Given the description of an element on the screen output the (x, y) to click on. 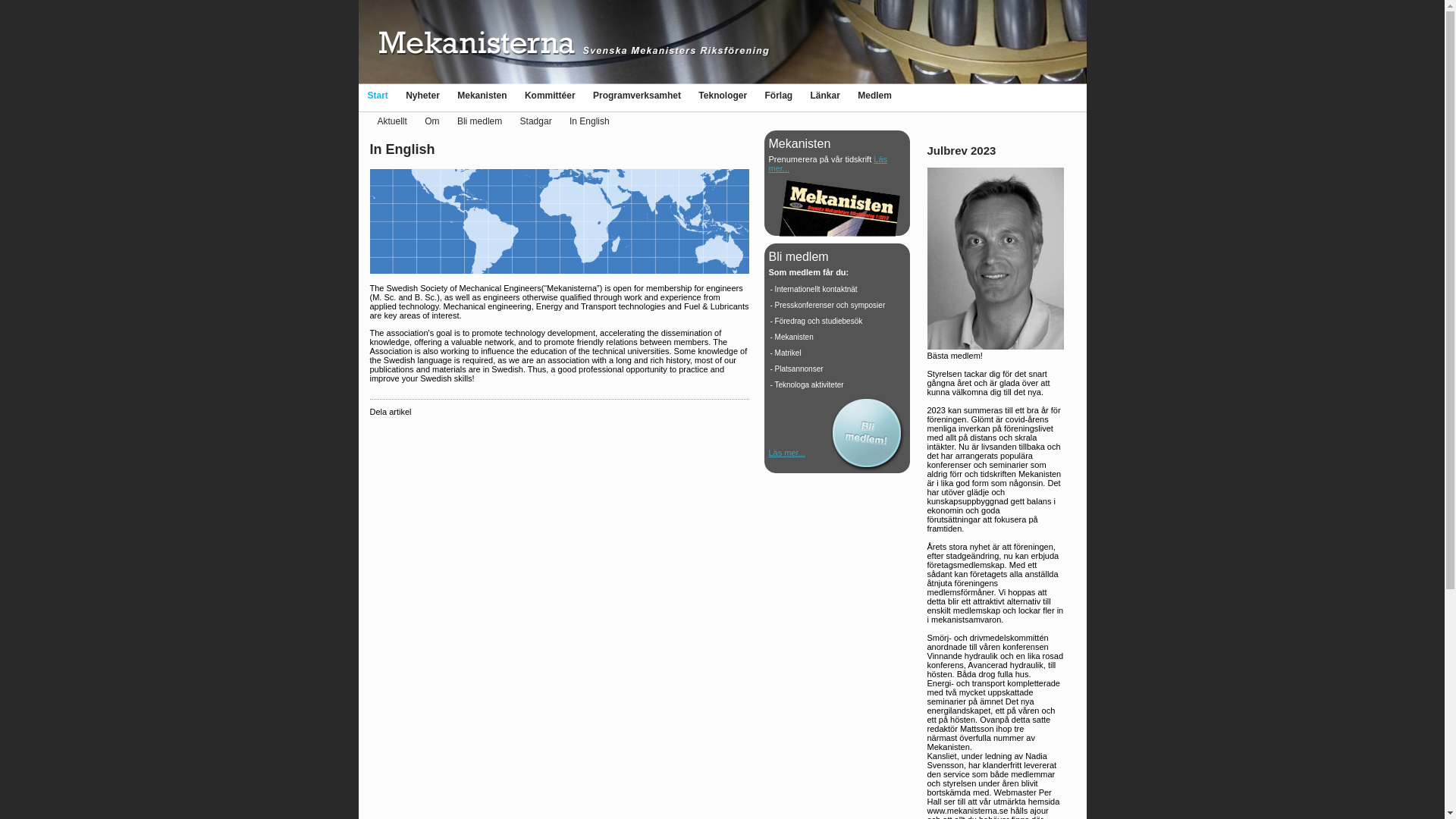
Aktuellt (392, 121)
Programverksamhet (636, 95)
Bli medlem (479, 121)
Nyheter (422, 95)
Om (432, 121)
In English (589, 121)
Mekanisten (481, 95)
Stadgar (535, 121)
Teknologer (722, 95)
Start (376, 95)
